Given the description of an element on the screen output the (x, y) to click on. 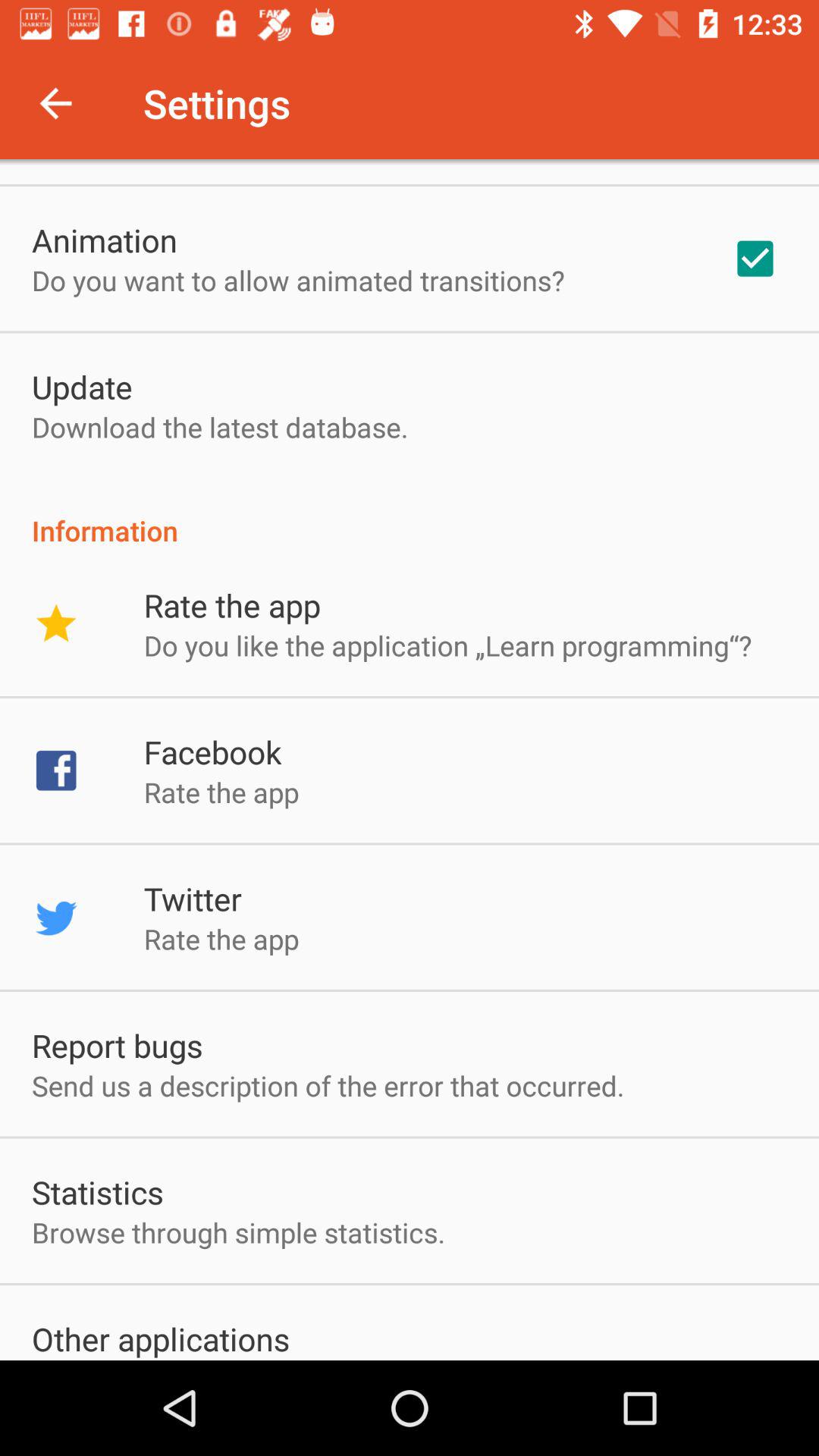
turn on app above the information icon (755, 258)
